Given the description of an element on the screen output the (x, y) to click on. 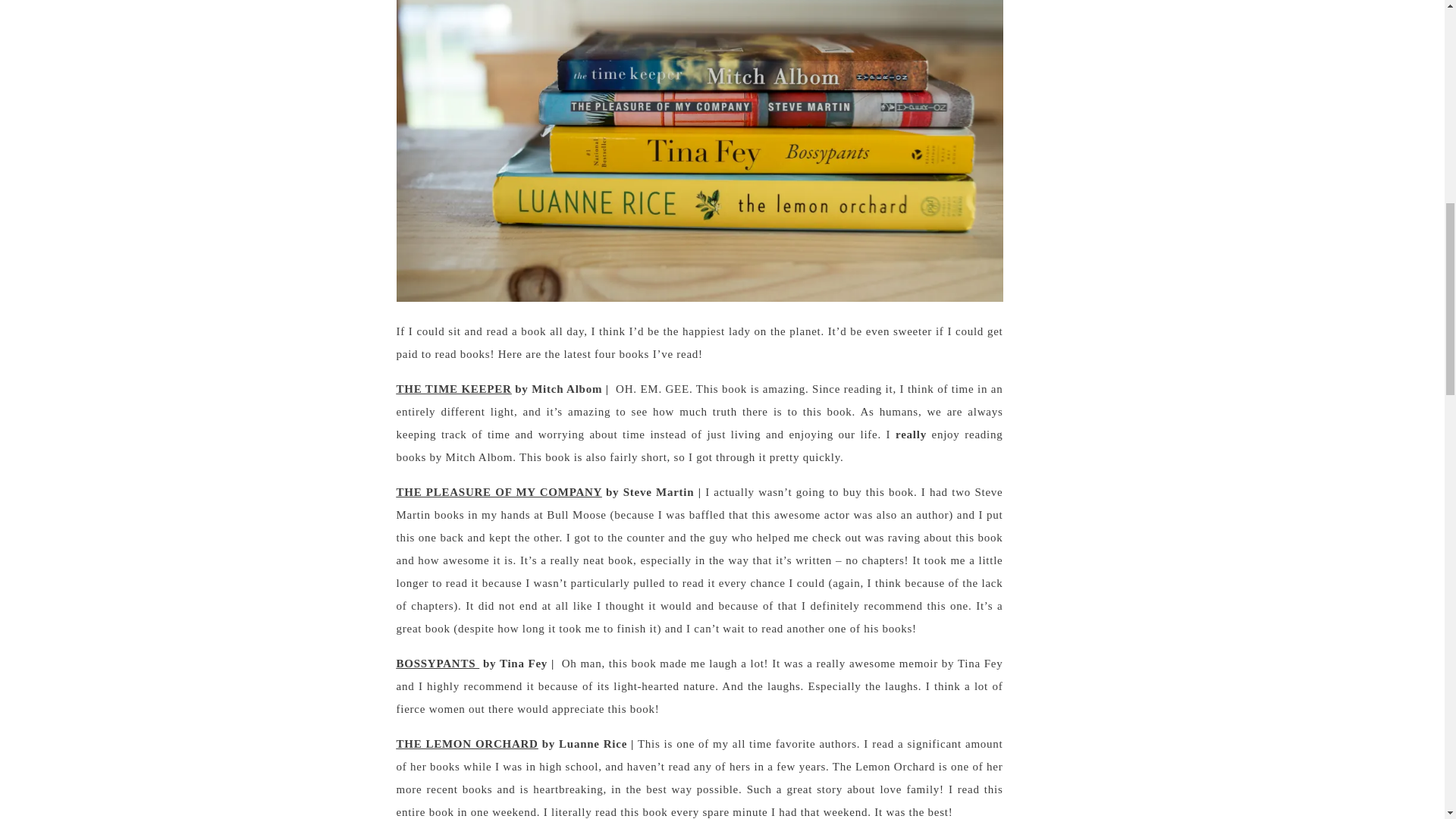
THE LEMON ORCHARD (466, 743)
THE PLEASURE OF MY COMPANY (498, 491)
BOSSYPANTS  (437, 663)
THE TIME KEEPER (453, 388)
